Given the description of an element on the screen output the (x, y) to click on. 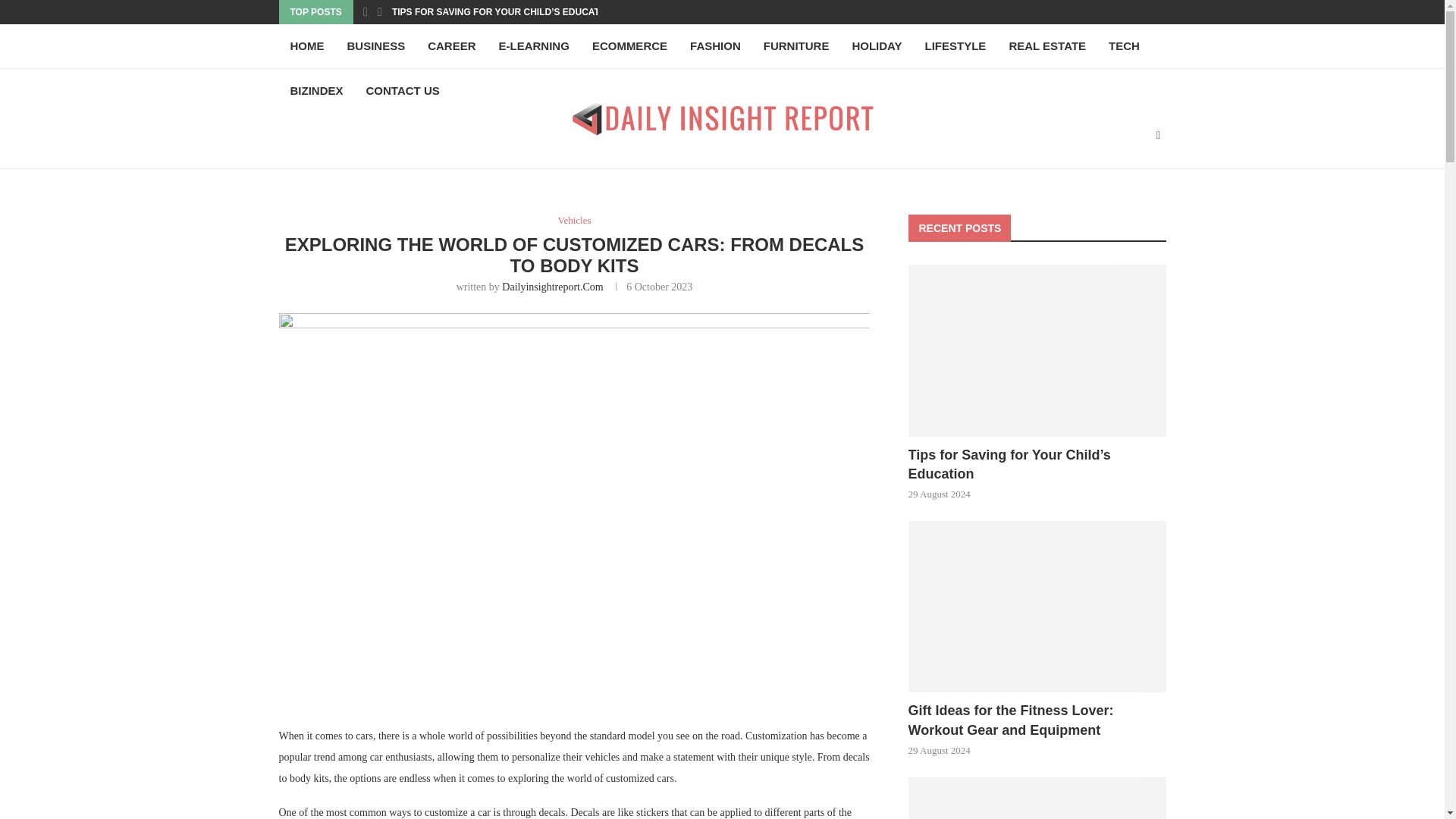
LIFESTYLE (955, 46)
REAL ESTATE (1047, 46)
HOME (307, 46)
FASHION (715, 46)
ECOMMERCE (629, 46)
Gift Ideas for the Fitness Lover: Workout Gear and Equipment (1037, 606)
E-LEARNING (533, 46)
FURNITURE (796, 46)
Dailyinsightreport.Com (552, 286)
